Given the description of an element on the screen output the (x, y) to click on. 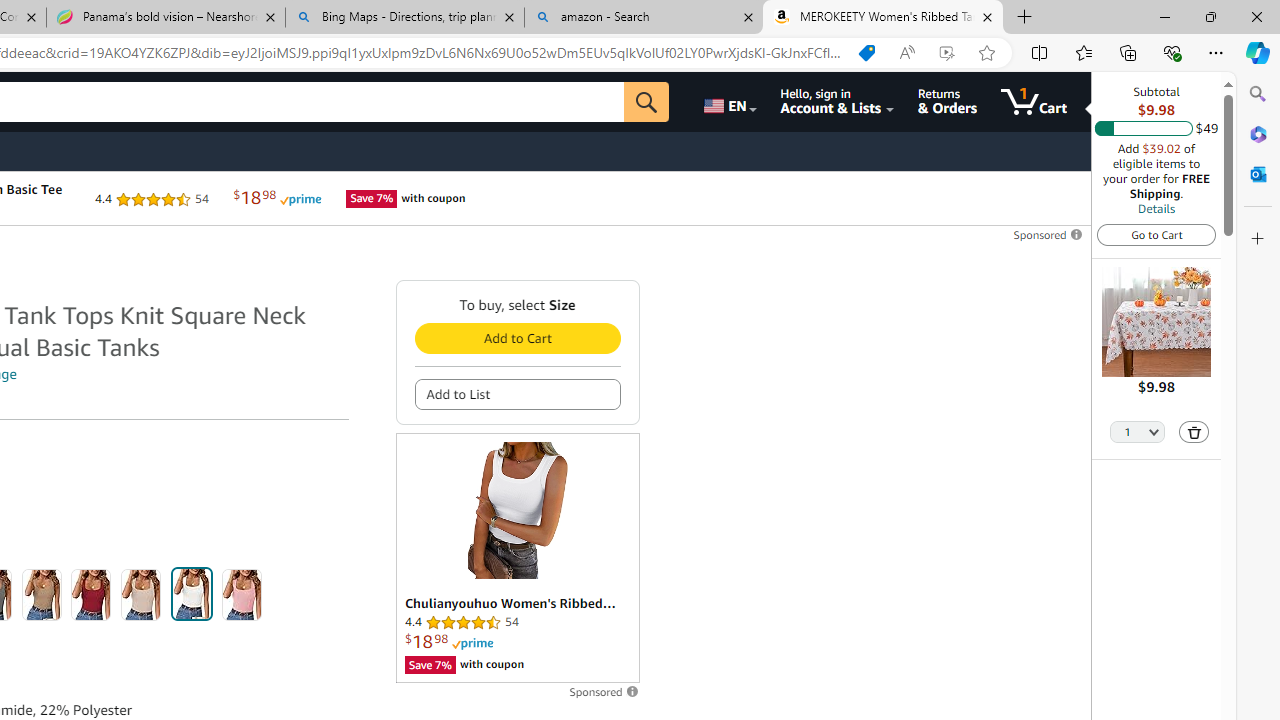
Sand (141, 594)
Go (646, 101)
Delete (1194, 431)
amazon - Search (643, 17)
Pink (242, 594)
Khaki (41, 594)
Prime (472, 643)
